Given the description of an element on the screen output the (x, y) to click on. 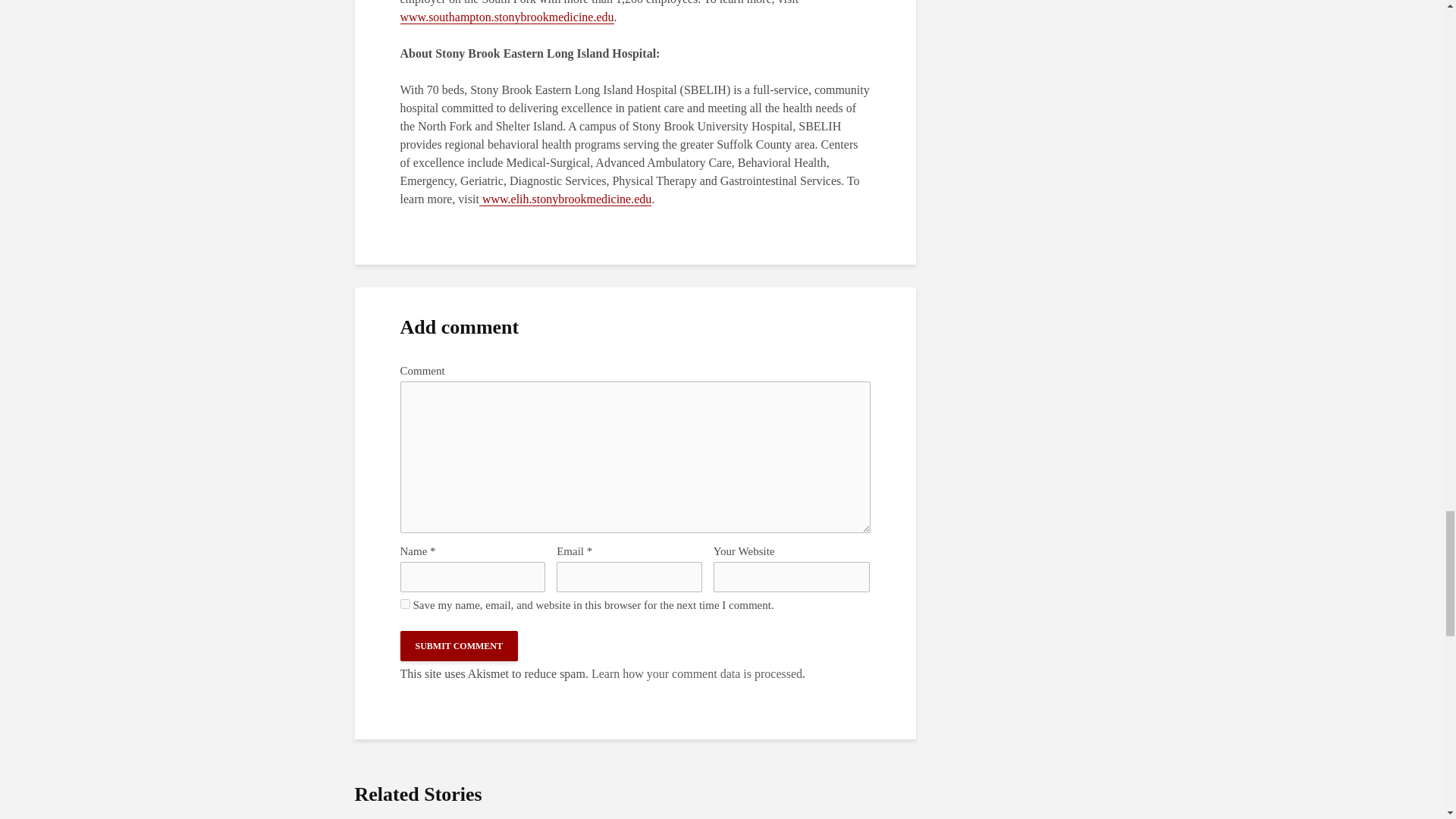
Submit Comment (459, 645)
yes (405, 603)
